Given the description of an element on the screen output the (x, y) to click on. 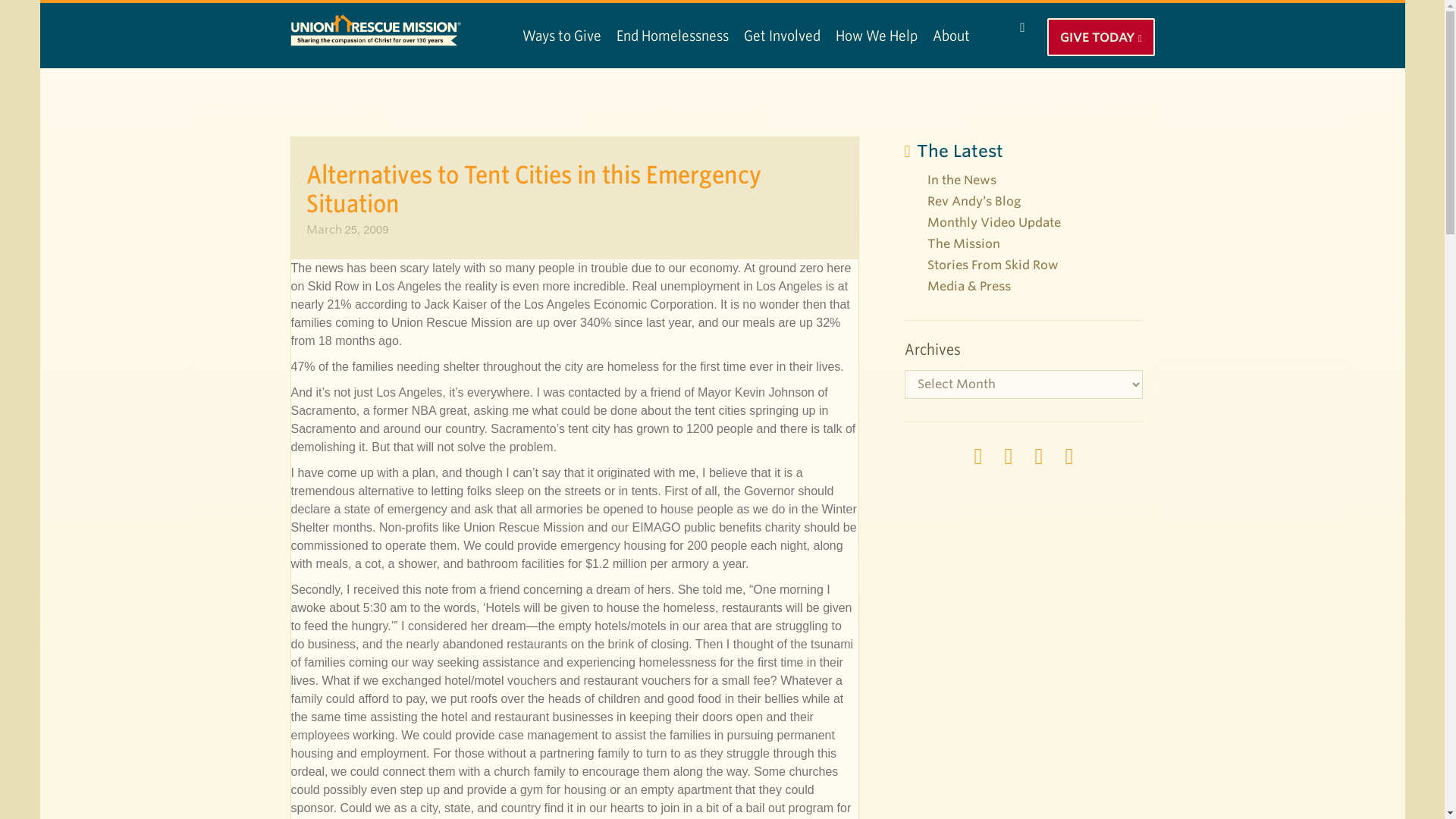
How We Help (876, 35)
End Homelessness (671, 35)
Get Involved (781, 35)
Ways to Give (560, 35)
